Given the description of an element on the screen output the (x, y) to click on. 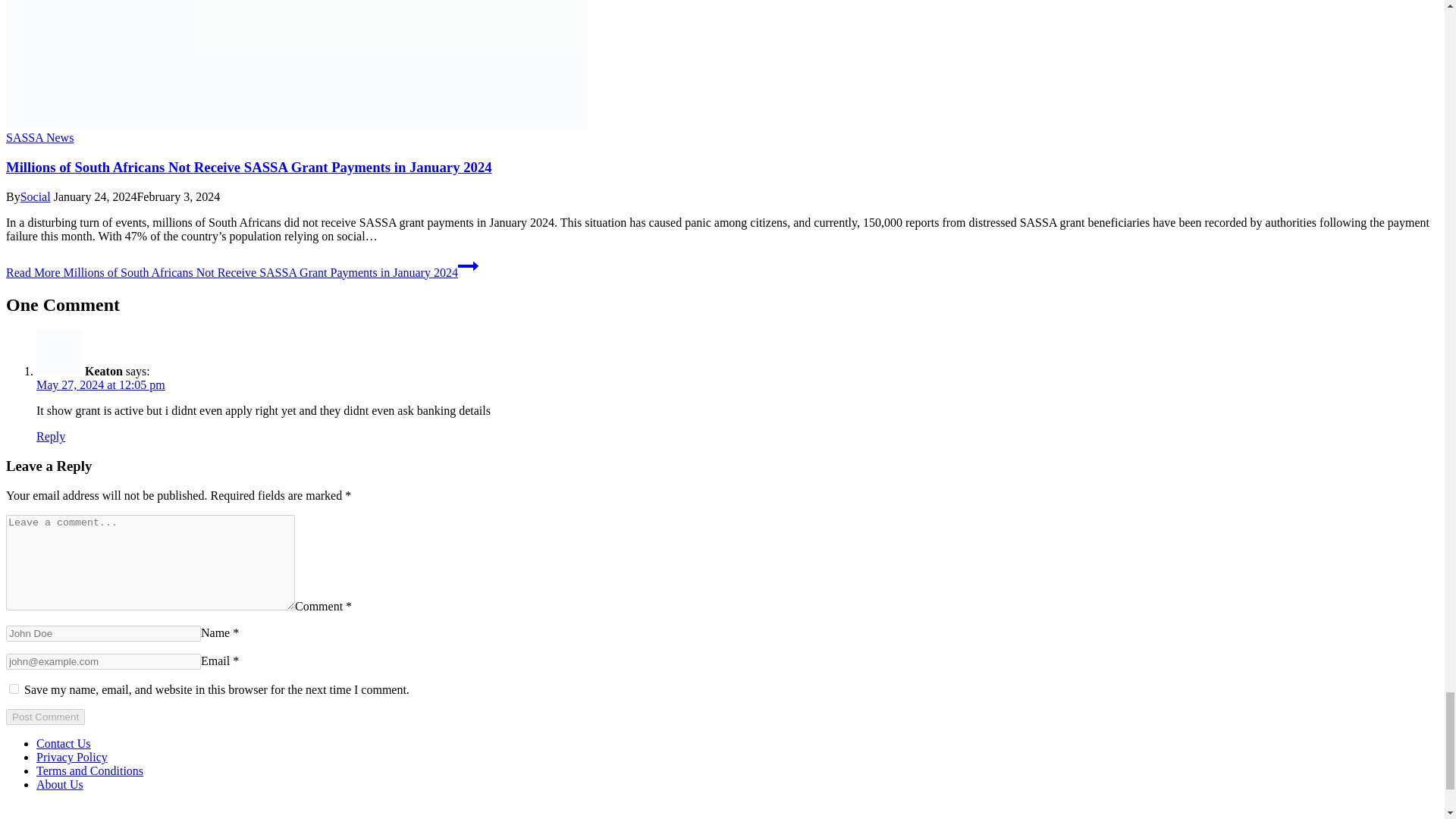
Continue (468, 265)
yes (13, 688)
Post Comment (44, 716)
